Given the description of an element on the screen output the (x, y) to click on. 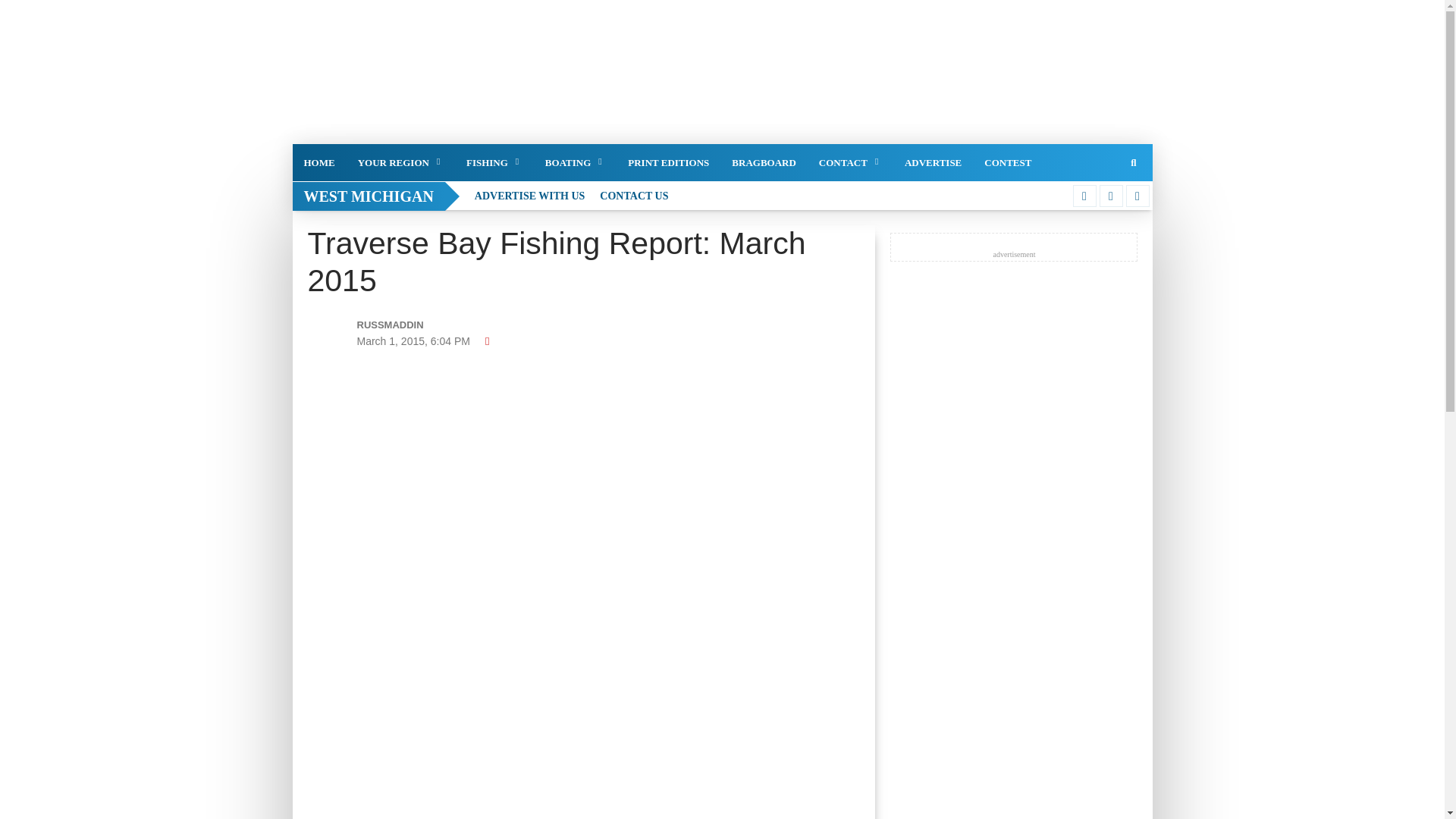
FISHING (494, 162)
YOUR REGION (400, 162)
HOME (319, 162)
View all posts by russmaddin (442, 324)
